Given the description of an element on the screen output the (x, y) to click on. 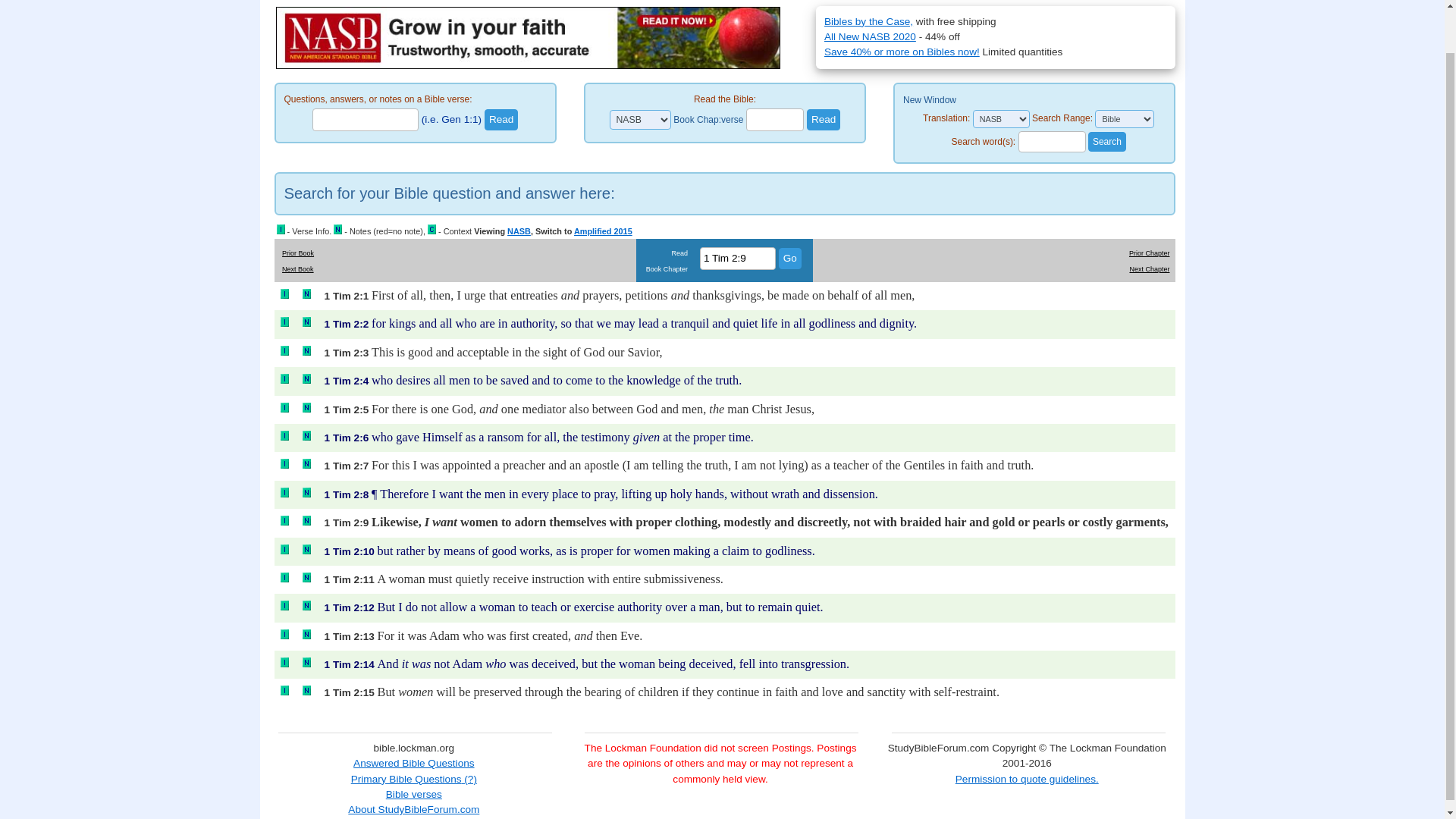
Read (823, 119)
Go (790, 258)
New Window (929, 100)
NASB (591, 2)
Lockman.org (324, 2)
Book Chap:verse (707, 119)
Bibles by the Case, (868, 21)
About Us (413, 2)
NASB (518, 230)
1 Tim 2:9 (738, 258)
